Given the description of an element on the screen output the (x, y) to click on. 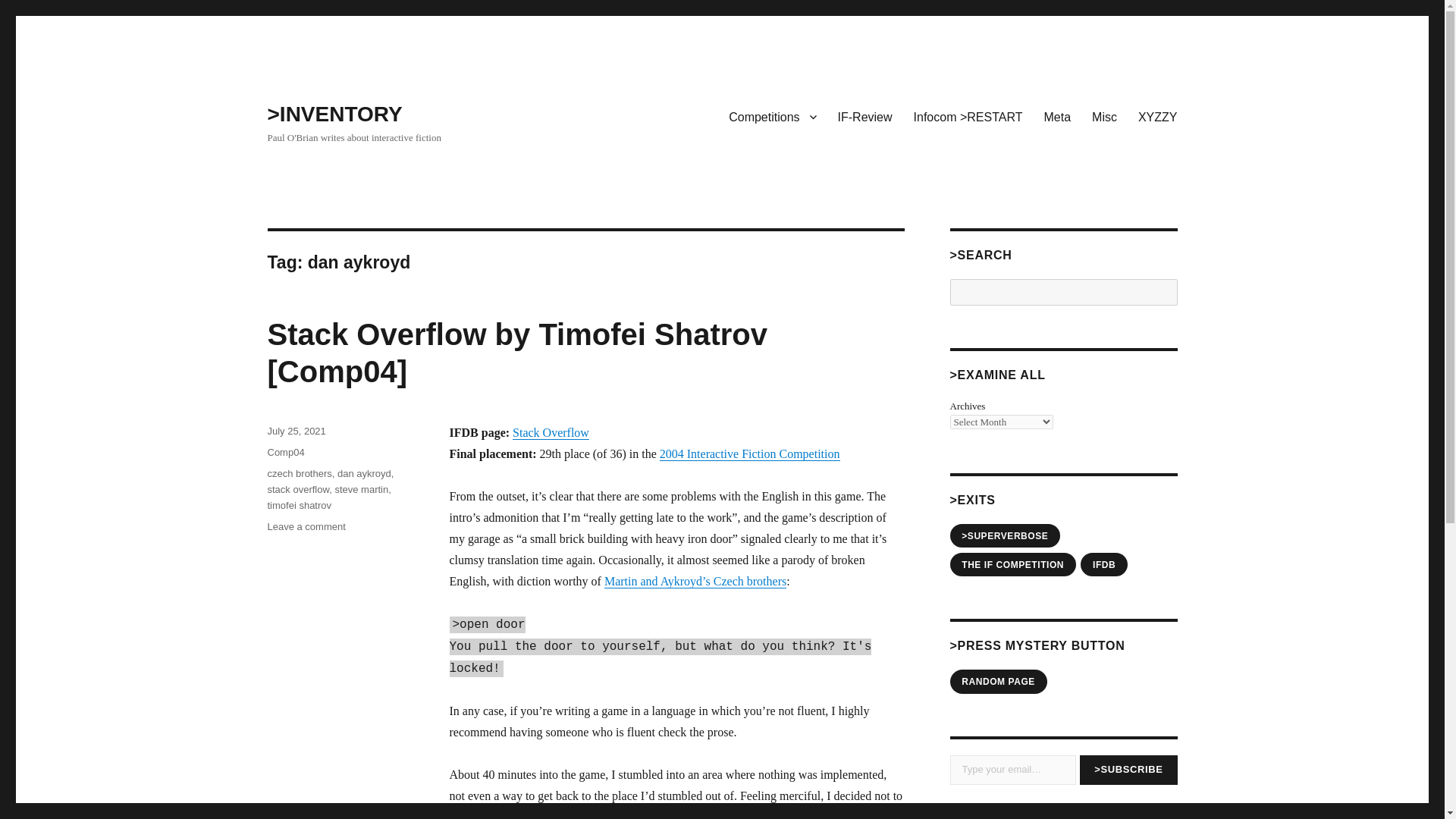
steve martin (361, 489)
Meta (1056, 116)
stack overflow (297, 489)
THE IF COMPETITION (1012, 564)
Comp04 (285, 451)
Misc (1103, 116)
XYZZY (1157, 116)
Stack Overflow (550, 431)
Competitions (772, 116)
July 25, 2021 (295, 430)
Please fill in this field. (1012, 769)
IFDB (1103, 564)
IF-Review (864, 116)
dan aykroyd (364, 473)
RANDOM PAGE (997, 681)
